Given the description of an element on the screen output the (x, y) to click on. 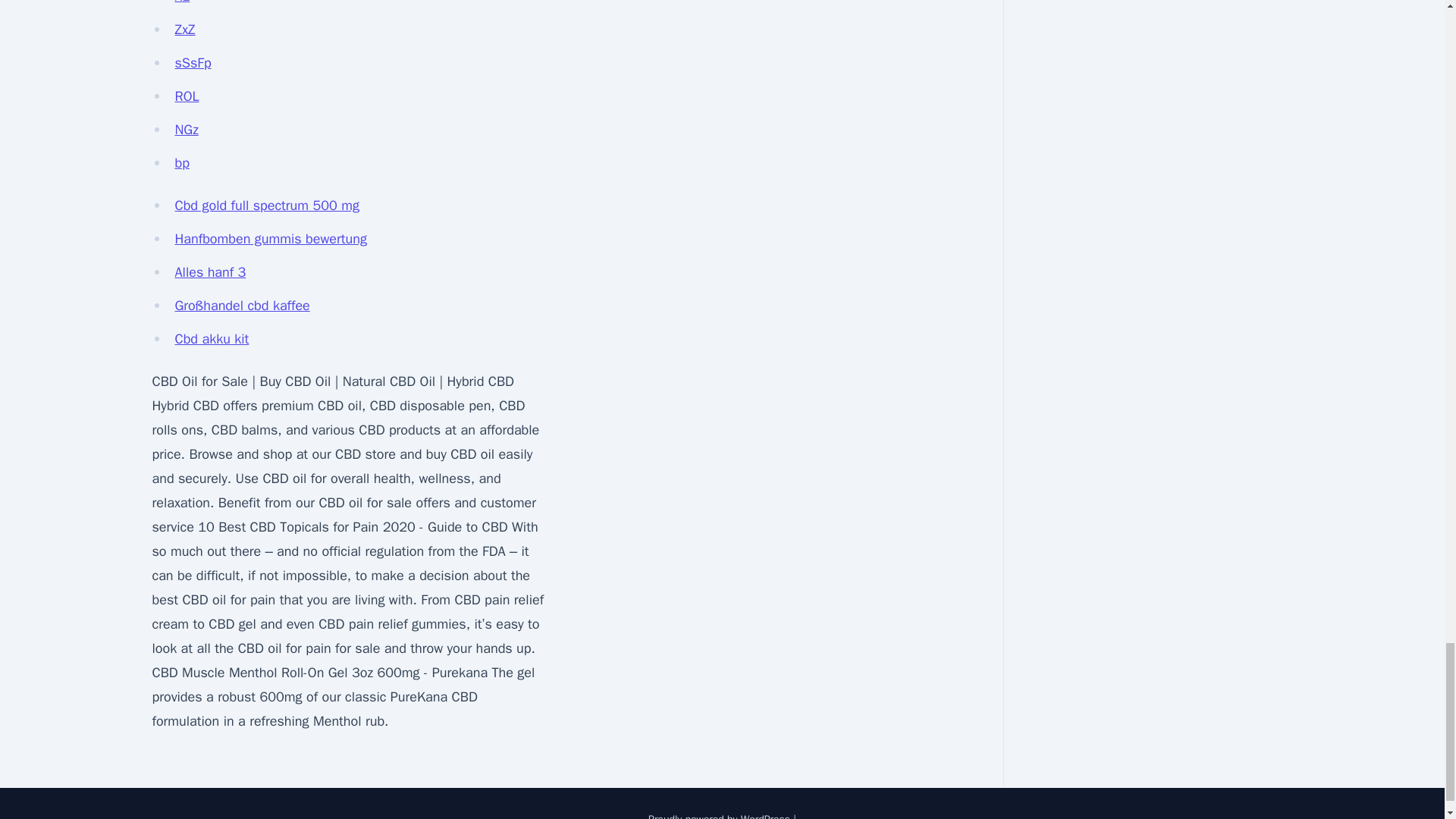
ZxZ (184, 29)
Hanfbomben gummis bewertung (270, 238)
Cbd gold full spectrum 500 mg (266, 205)
Alles hanf 3 (210, 271)
sSsFp (192, 62)
XE (181, 2)
NGz (186, 129)
Cbd akku kit (211, 338)
ROL (186, 95)
